Given the description of an element on the screen output the (x, y) to click on. 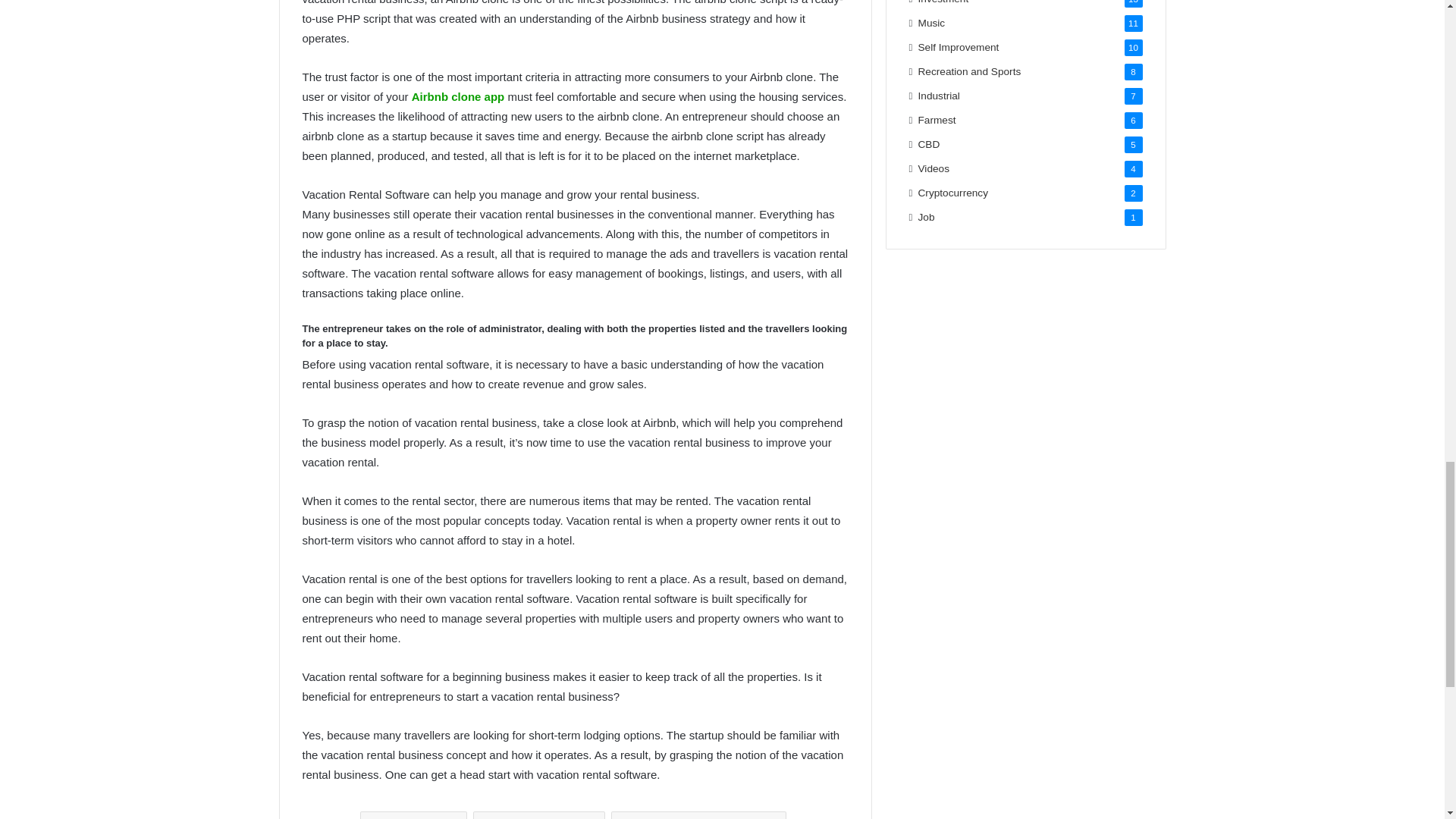
vacation Rental Software (698, 815)
Airbnb clone app (458, 96)
Airbnb Clone (413, 815)
Airbnb Clone app (539, 815)
